Given the description of an element on the screen output the (x, y) to click on. 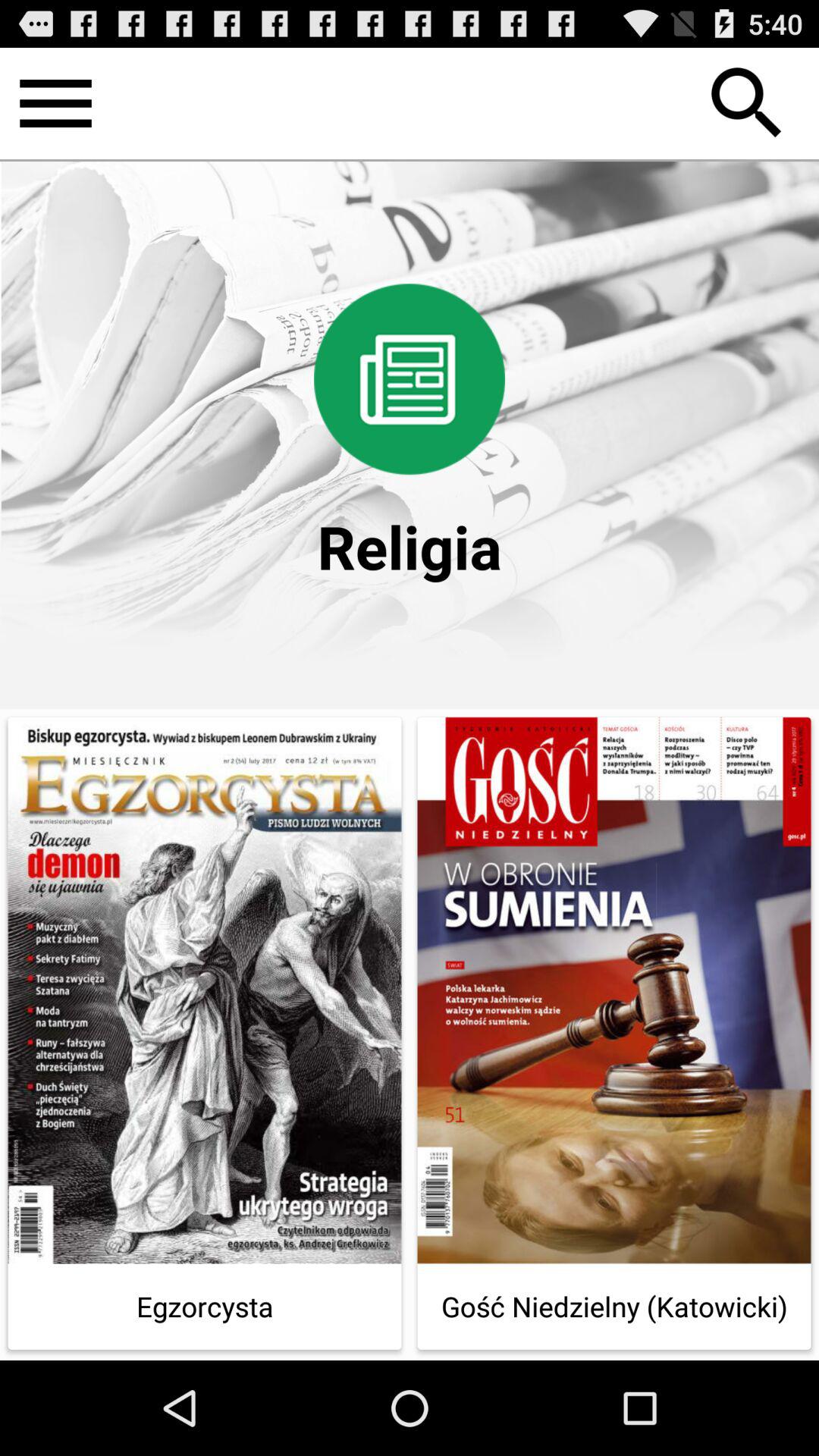
choose the icon at the top right corner (747, 103)
